Given the description of an element on the screen output the (x, y) to click on. 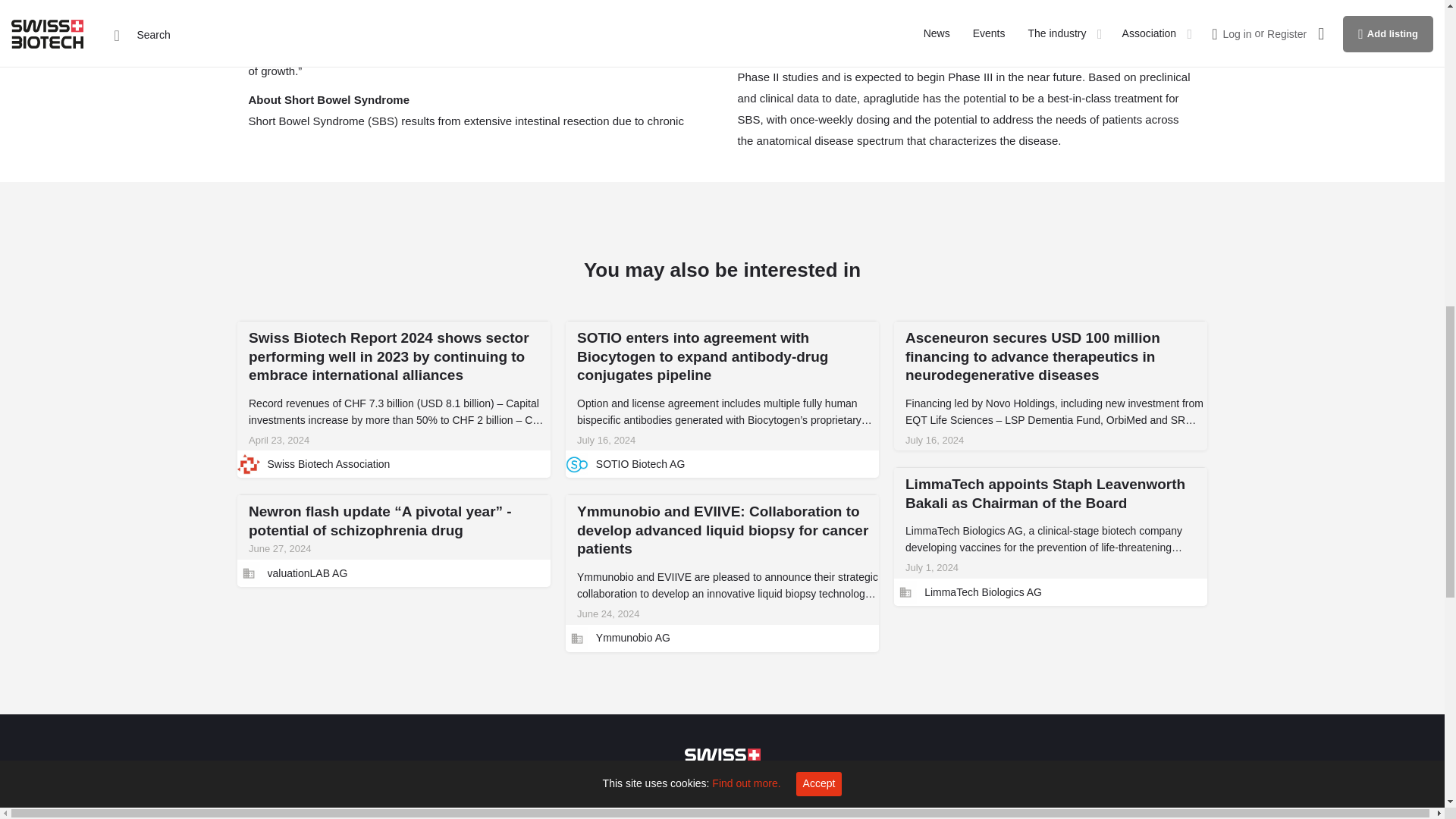
swiss-biotech-logo-neg (722, 763)
